Given the description of an element on the screen output the (x, y) to click on. 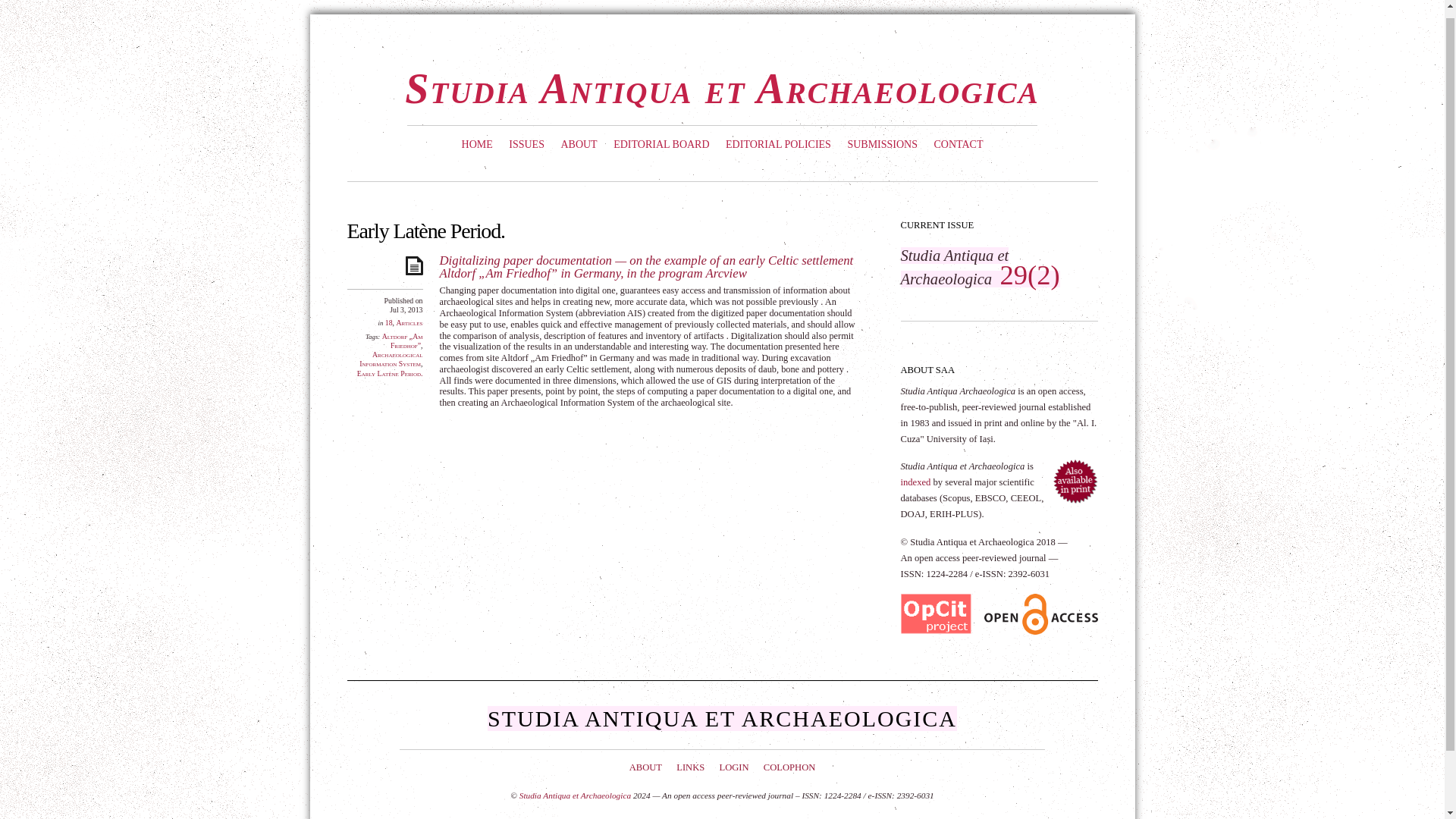
ISSUES (526, 144)
Studia Antiqua et Archaeologica (721, 88)
HOME (477, 144)
ABOUT (577, 144)
